Given the description of an element on the screen output the (x, y) to click on. 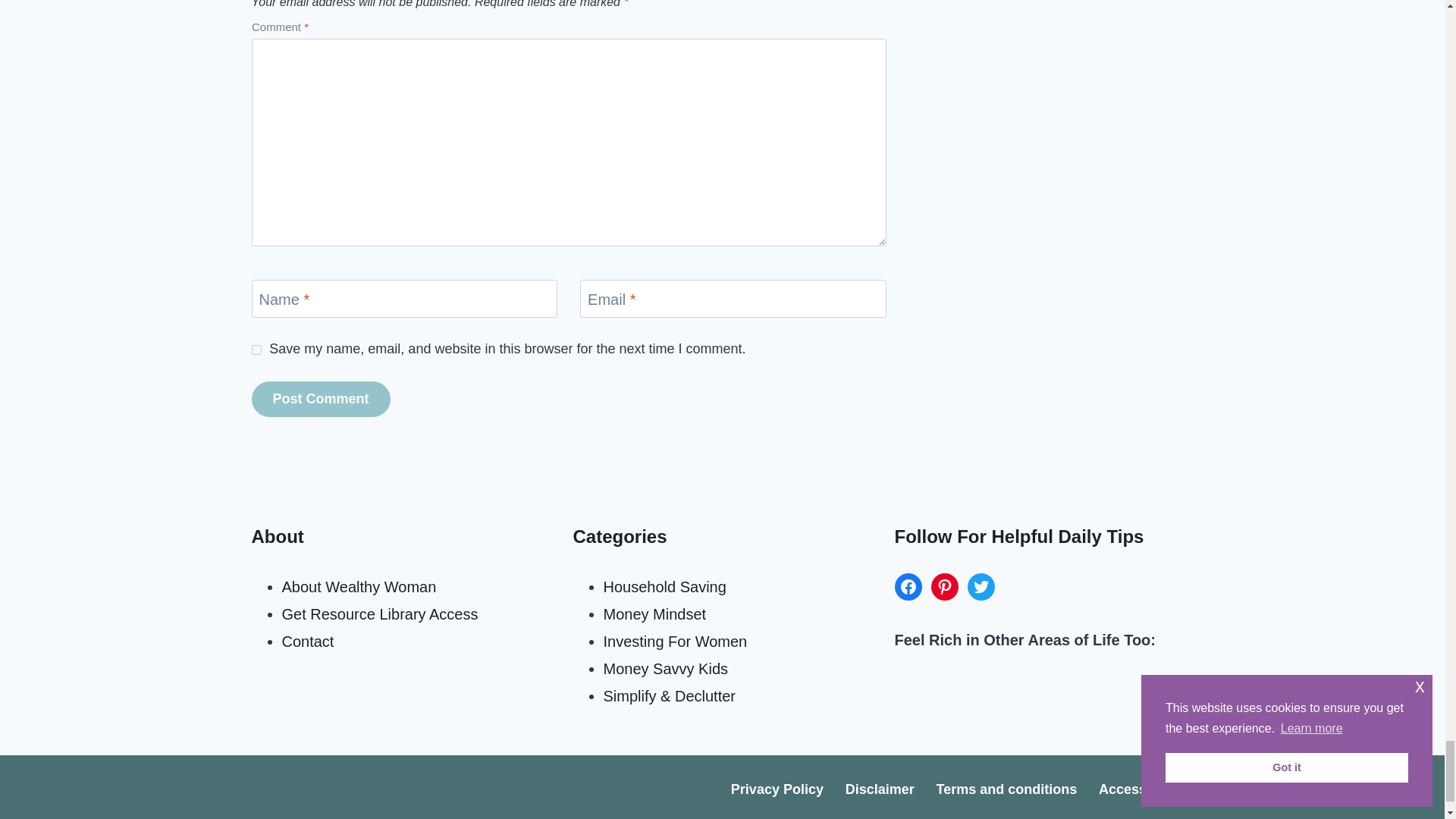
yes (256, 349)
Post Comment (320, 399)
